Given the description of an element on the screen output the (x, y) to click on. 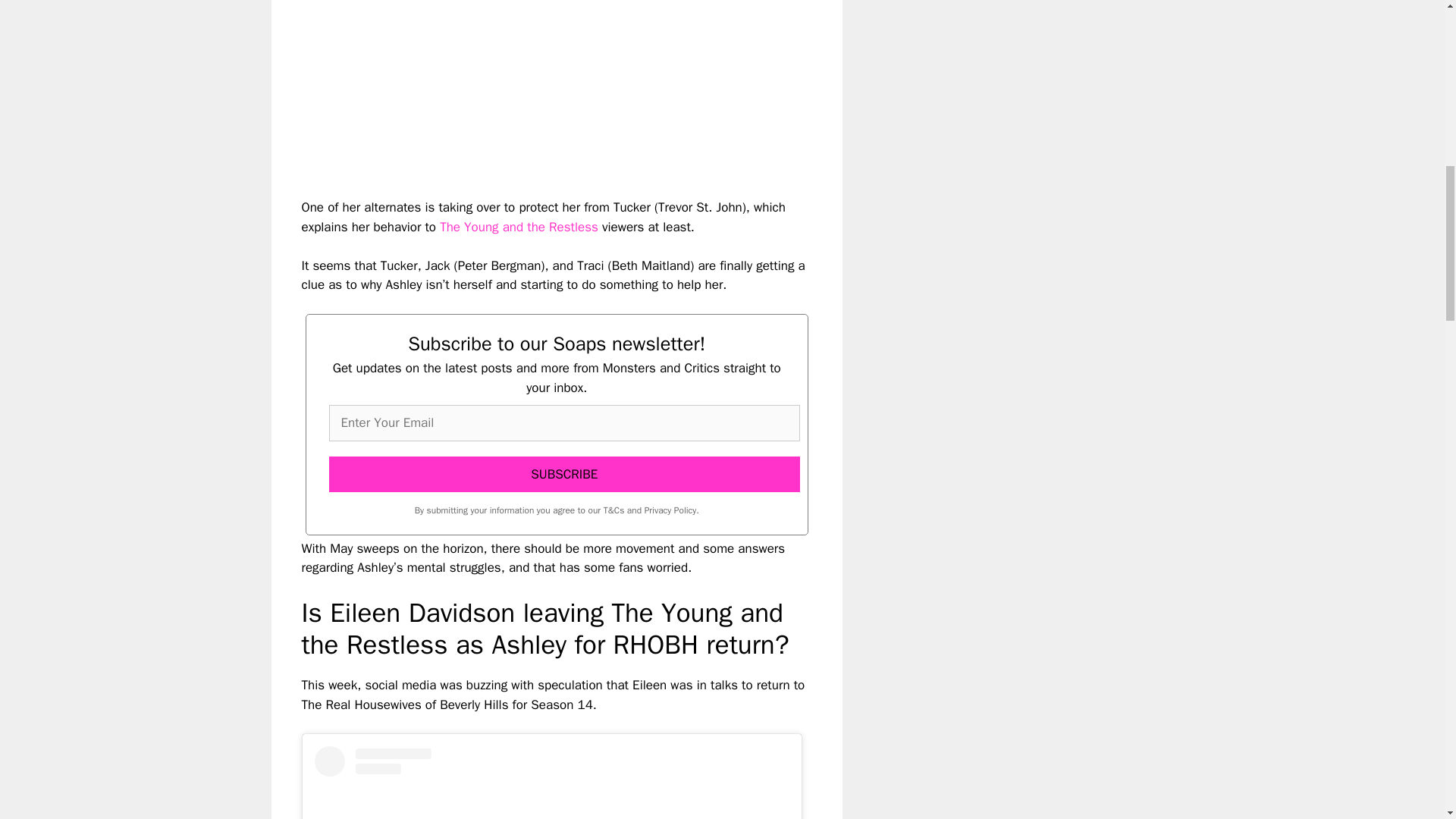
SUBSCRIBE (564, 474)
View this post on Instagram (551, 782)
YouTube video player (513, 86)
The Young and the Restless (518, 227)
SUBSCRIBE (564, 474)
